Given the description of an element on the screen output the (x, y) to click on. 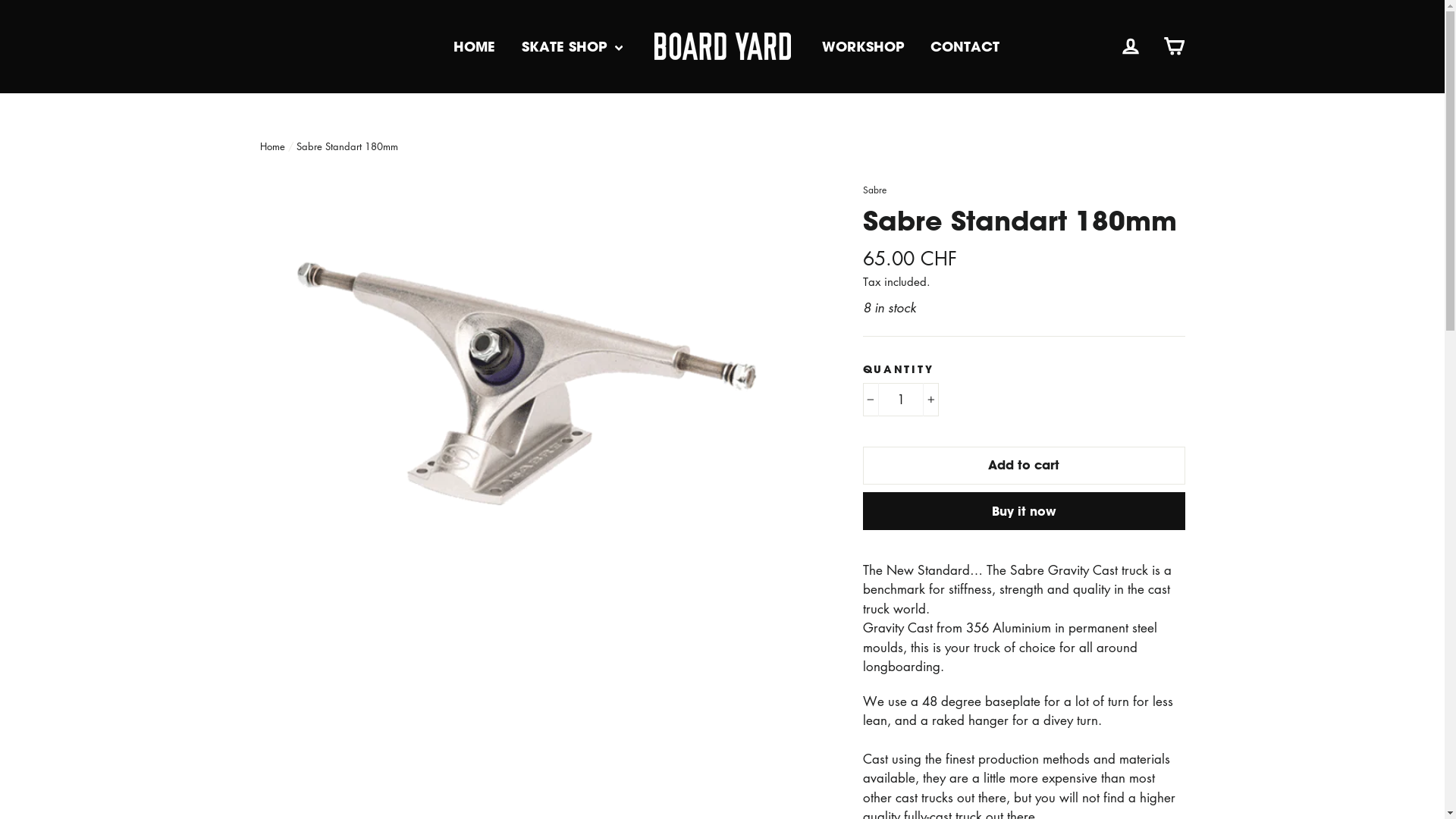
CONTACT Element type: text (964, 46)
Add to cart Element type: text (1023, 465)
Home Element type: text (271, 145)
Log in Element type: text (1130, 46)
Sabre Element type: text (874, 189)
HOME Element type: text (474, 46)
Buy it now Element type: text (1023, 511)
Cart Element type: text (1173, 46)
+ Element type: text (930, 399)
WORKSHOP Element type: text (862, 46)
SKATE SHOP Element type: text (571, 46)
Skip to content Element type: text (0, 0)
